Given the description of an element on the screen output the (x, y) to click on. 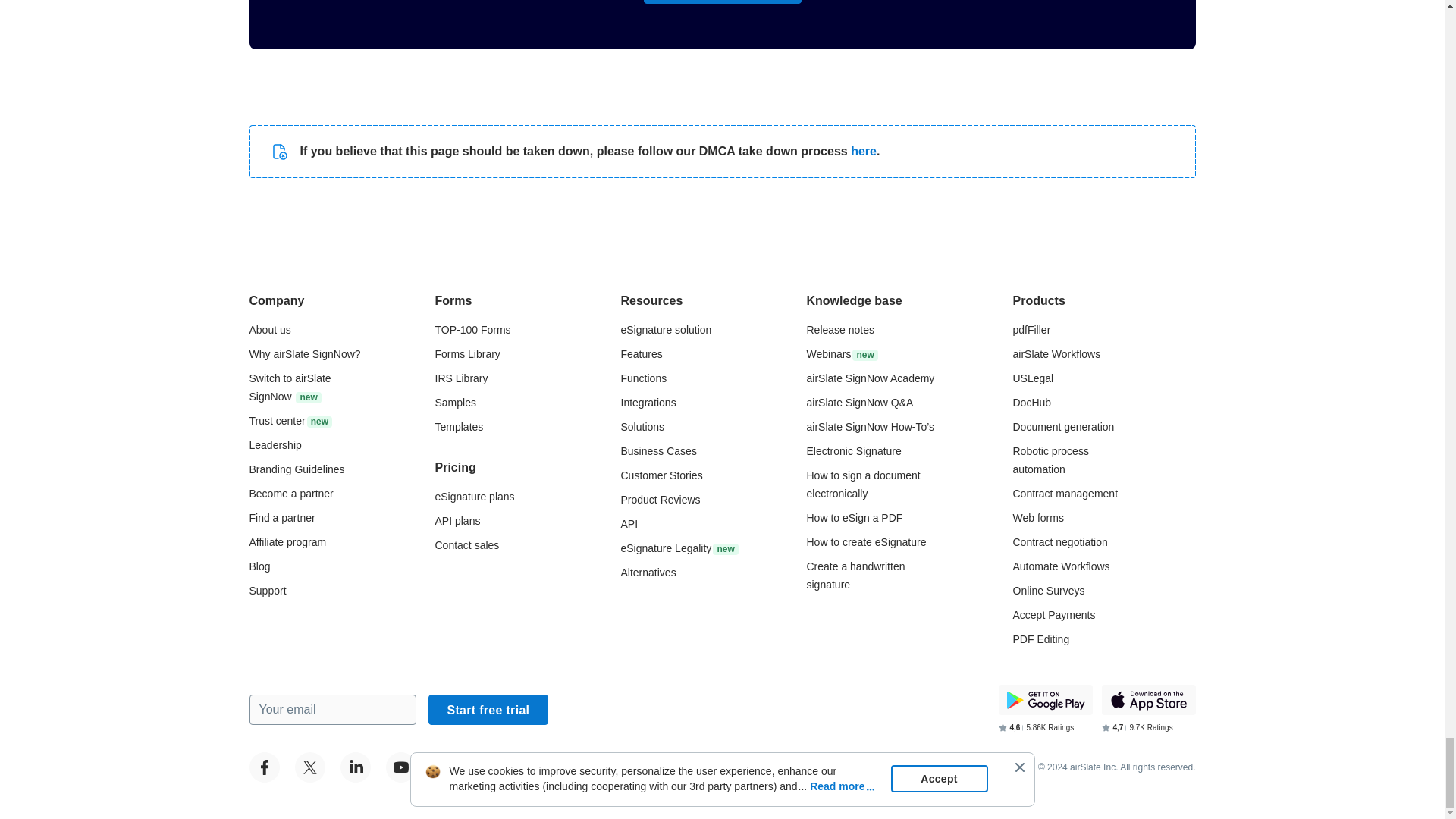
Go to the partners page (281, 517)
Go to the About Us page (268, 329)
Go to the Migrate page (289, 387)
Go to the trust center page (289, 420)
Go to the  airSlate signNow  Blog (258, 566)
Go to the  airSlate signNow  templates page (459, 426)
Go to the  airSlate signNow  pricing page (475, 496)
Go to the Why  airSlate signNow ? page (303, 354)
Go to the  airSlate signNow  irs library page (461, 378)
Go to the Brand page (295, 469)
Go to the support center (266, 590)
Go to the top 100 forms page (473, 329)
Go to the  airSlate signNow  forms library page (467, 354)
Go to the leadership page (274, 444)
Go to the affiliate program page (287, 541)
